Given the description of an element on the screen output the (x, y) to click on. 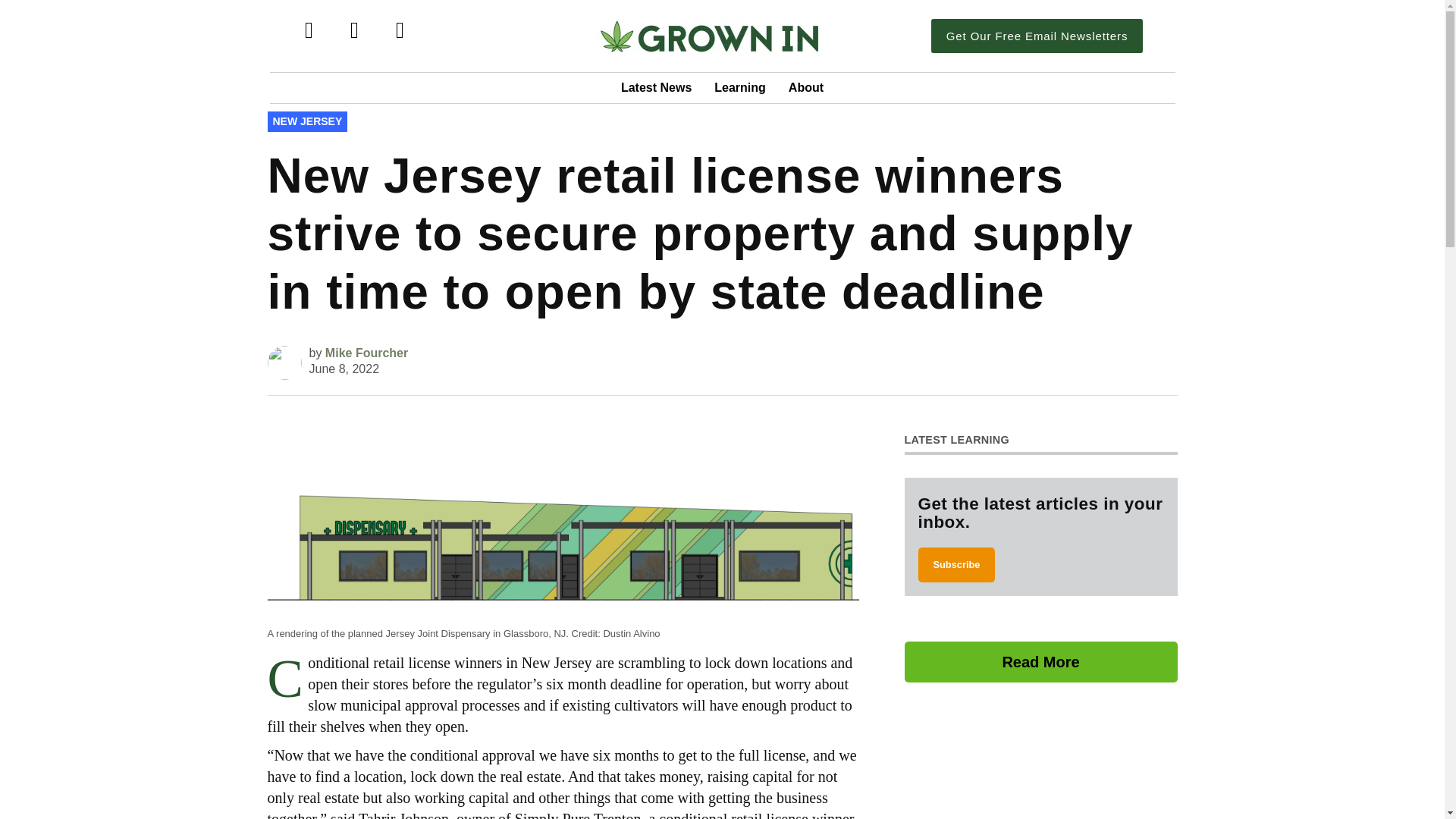
Latest News (656, 87)
Subscribe (955, 564)
Read More (1040, 661)
LATEST LEARNING (956, 439)
About (805, 87)
Get Our Free Email Newsletters (1036, 35)
Mike Fourcher (365, 352)
Learning (740, 87)
NEW JERSEY (306, 121)
